Given the description of an element on the screen output the (x, y) to click on. 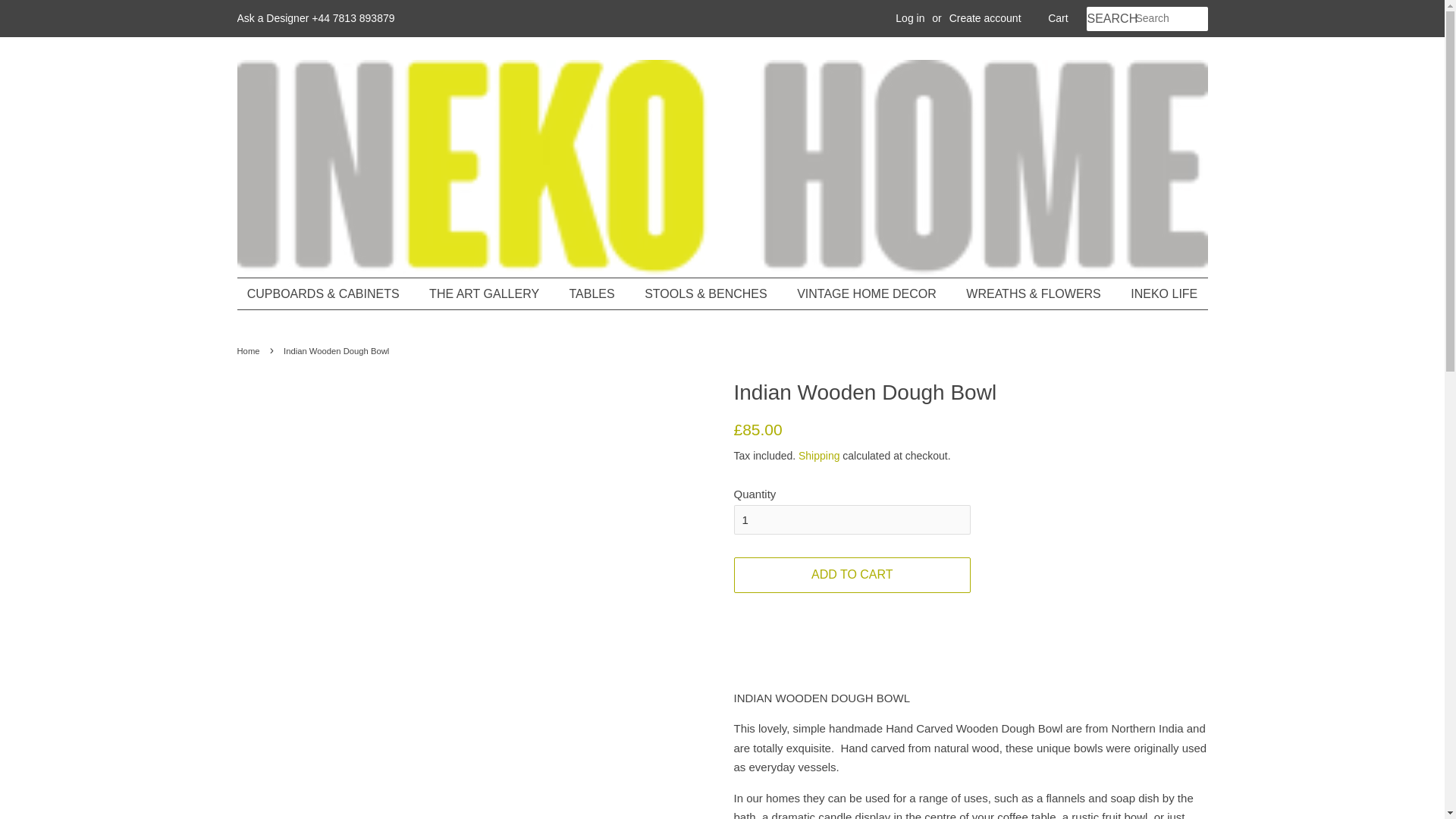
THE ART GALLERY (485, 293)
INEKO LIFE (1157, 293)
1 (852, 519)
VINTAGE HOME DECOR (869, 293)
TABLES (593, 293)
Home (249, 350)
Log in (909, 18)
SEARCH (1110, 18)
Back to the frontpage (249, 350)
Create account (985, 18)
Cart (1057, 18)
